Given the description of an element on the screen output the (x, y) to click on. 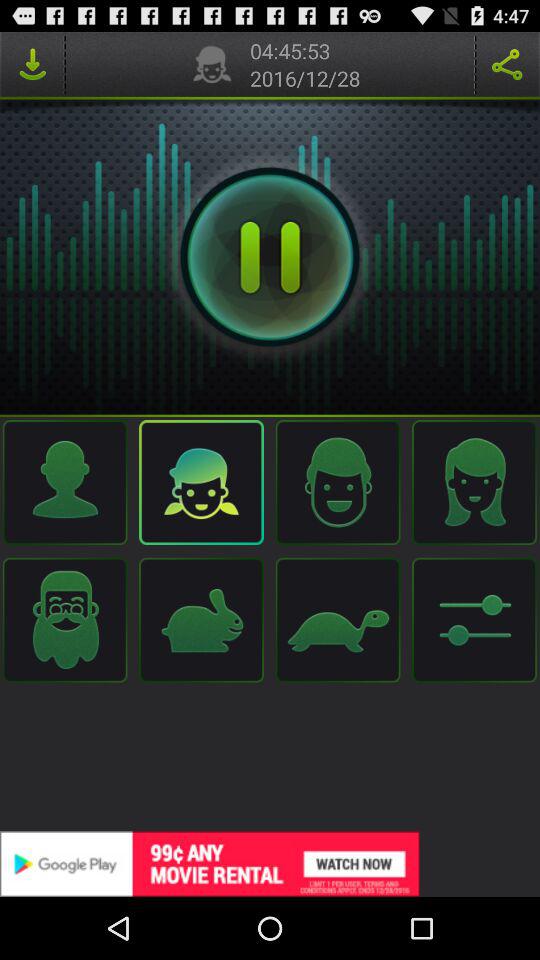
share (507, 64)
